Given the description of an element on the screen output the (x, y) to click on. 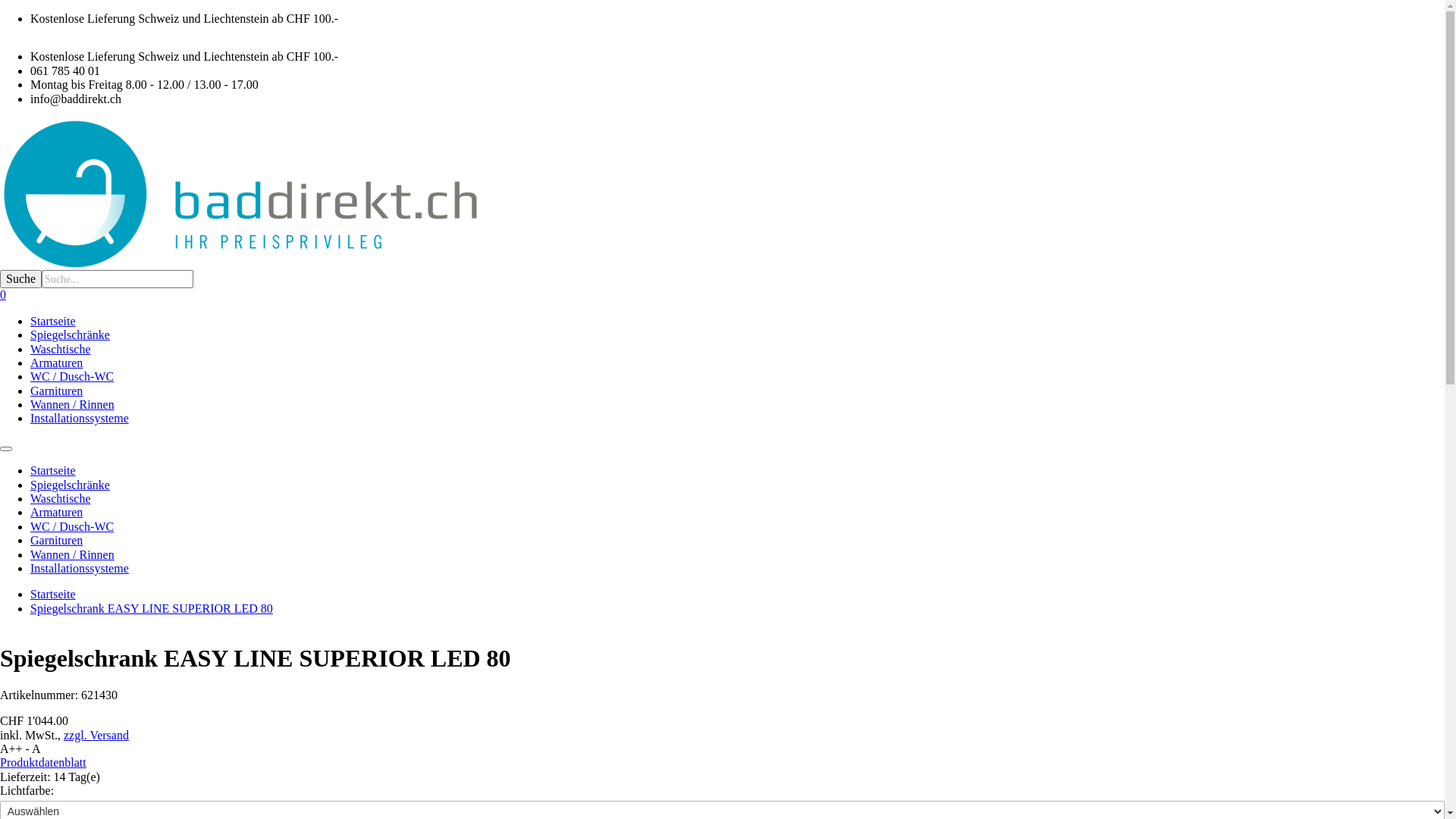
Armaturen Element type: text (56, 511)
Suche Element type: text (20, 278)
WC / Dusch-WC Element type: text (71, 526)
Armaturen Element type: text (56, 362)
Wannen / Rinnen Element type: text (72, 404)
Wannen / Rinnen Element type: text (72, 554)
Installationssysteme Element type: text (79, 417)
WC / Dusch-WC Element type: text (71, 376)
Warenkorb anzeigen. Sie haben 0 Artikel im Warenkorb.
0 Element type: text (3, 294)
Startseite Element type: text (52, 320)
Garnituren Element type: text (56, 539)
Startseite Element type: text (52, 593)
Waschtische Element type: text (60, 498)
Spiegelschrank EASY LINE SUPERIOR LED 80 Element type: text (151, 608)
Startseite Element type: text (52, 470)
zzgl. Versand Element type: text (95, 734)
Produktdatenblatt Element type: text (43, 762)
Garnituren Element type: text (56, 390)
Installationssysteme Element type: text (79, 567)
baddirekt.ch Element type: hover (722, 193)
Waschtische Element type: text (60, 348)
